Given the description of an element on the screen output the (x, y) to click on. 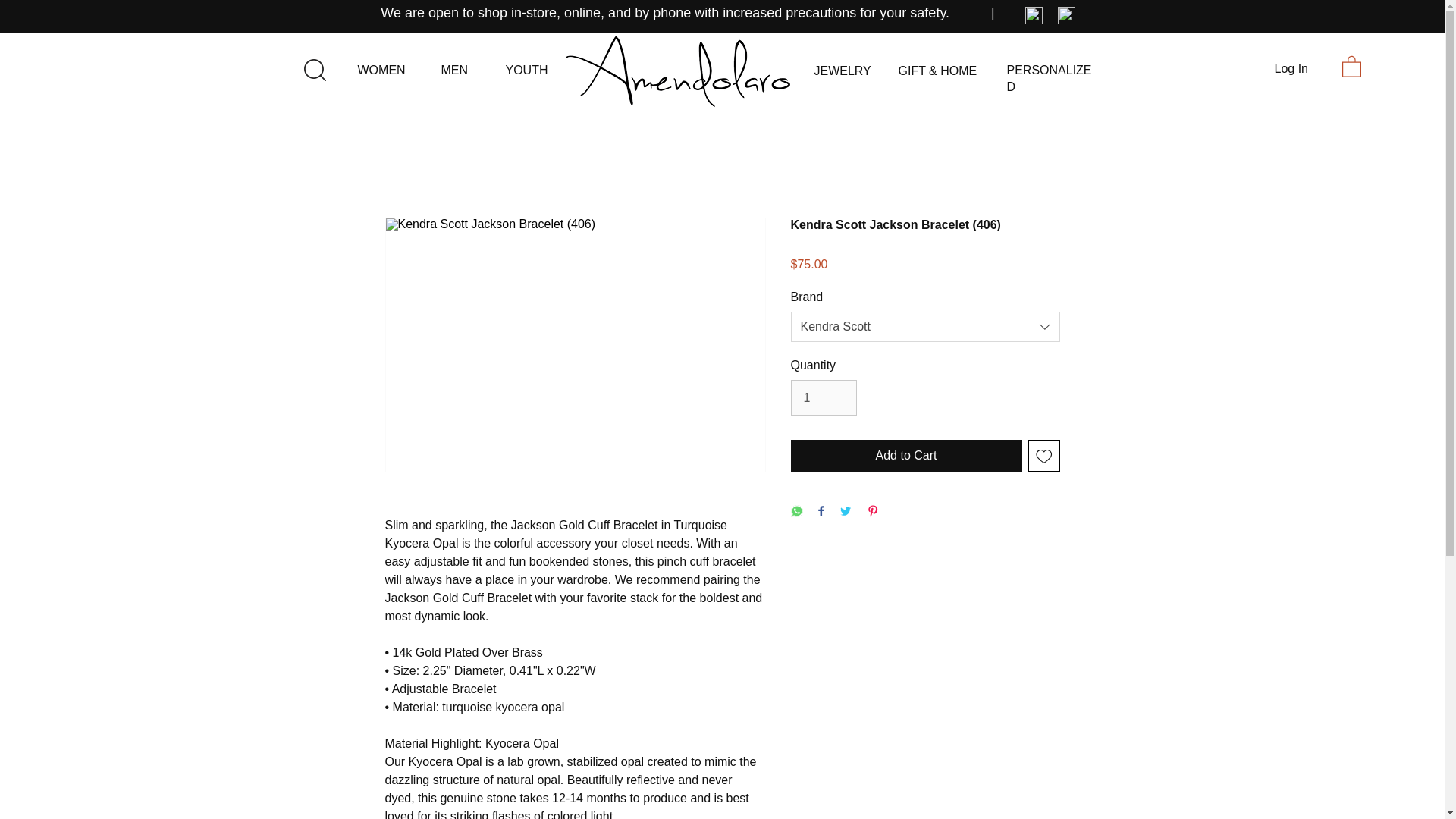
YOUTH (526, 69)
MEN (454, 69)
1 (823, 397)
Kendra Scott (924, 327)
WOMEN (382, 69)
PERSONALIZED (1049, 78)
Log In (1291, 68)
Add to Cart (906, 455)
JEWELRY (841, 70)
